Given the description of an element on the screen output the (x, y) to click on. 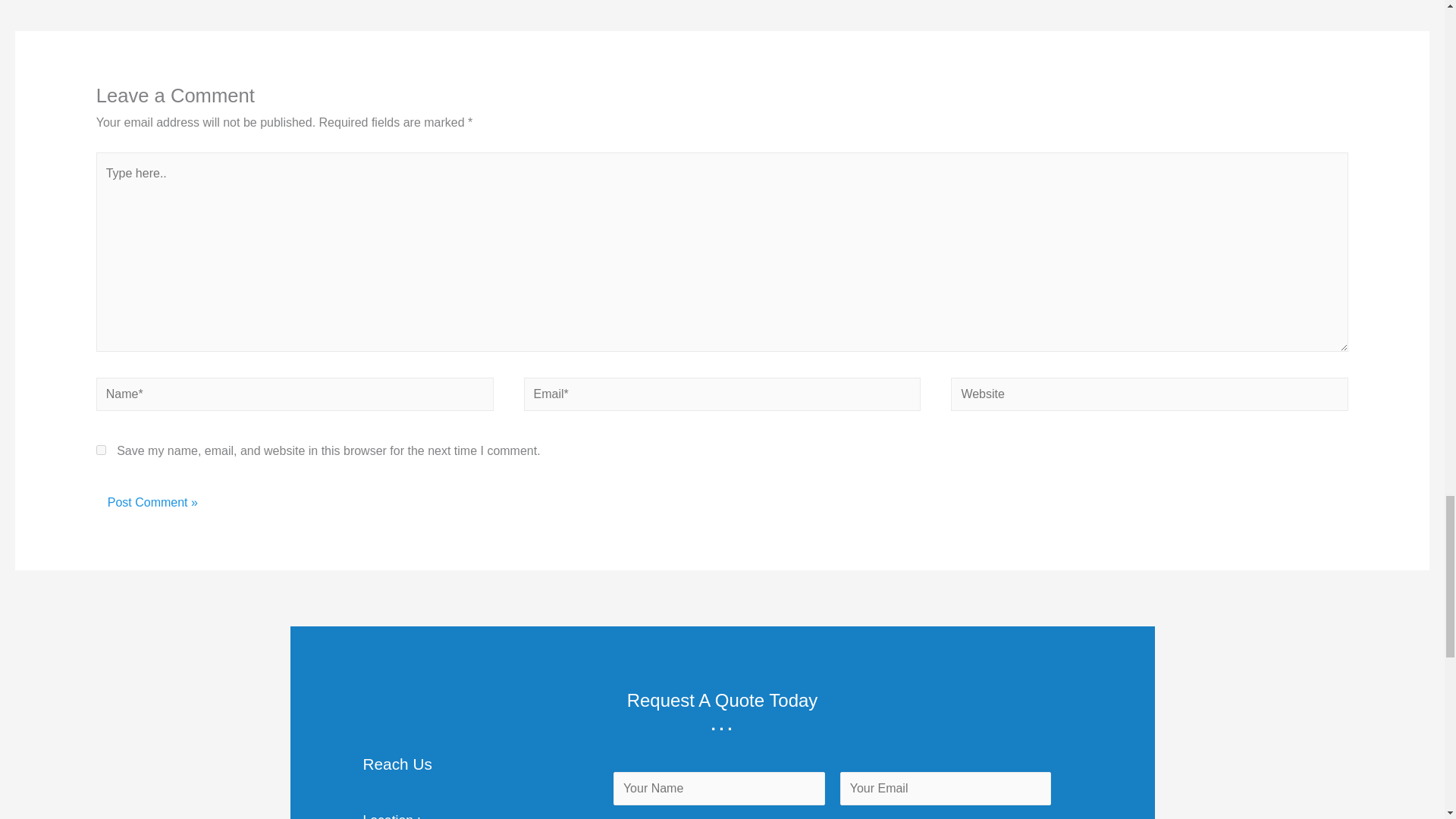
yes (101, 450)
